Given the description of an element on the screen output the (x, y) to click on. 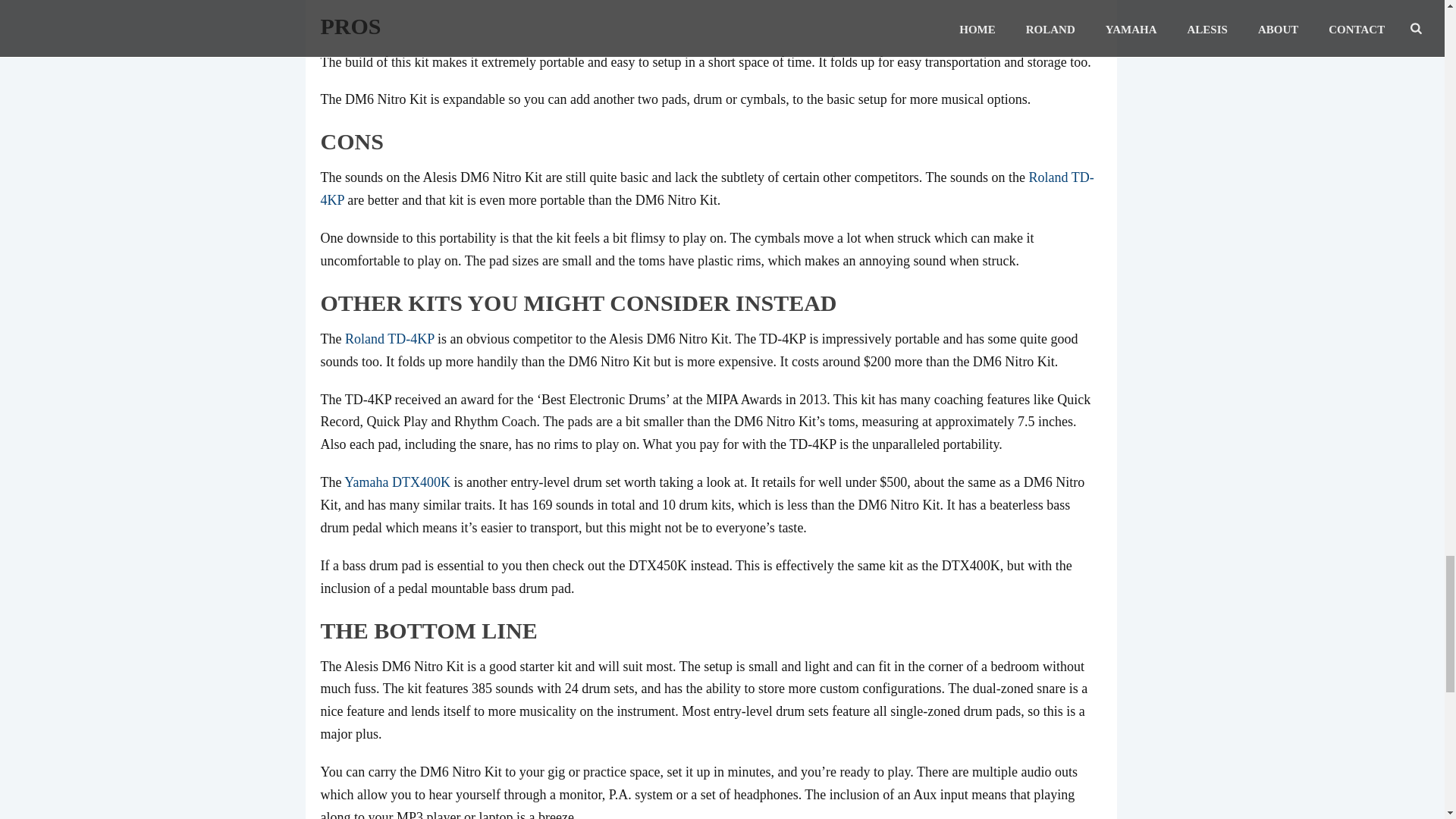
Yamaha DTX400K (396, 482)
Roland TD-4KP (706, 188)
Roland TD-4KP (389, 338)
